Given the description of an element on the screen output the (x, y) to click on. 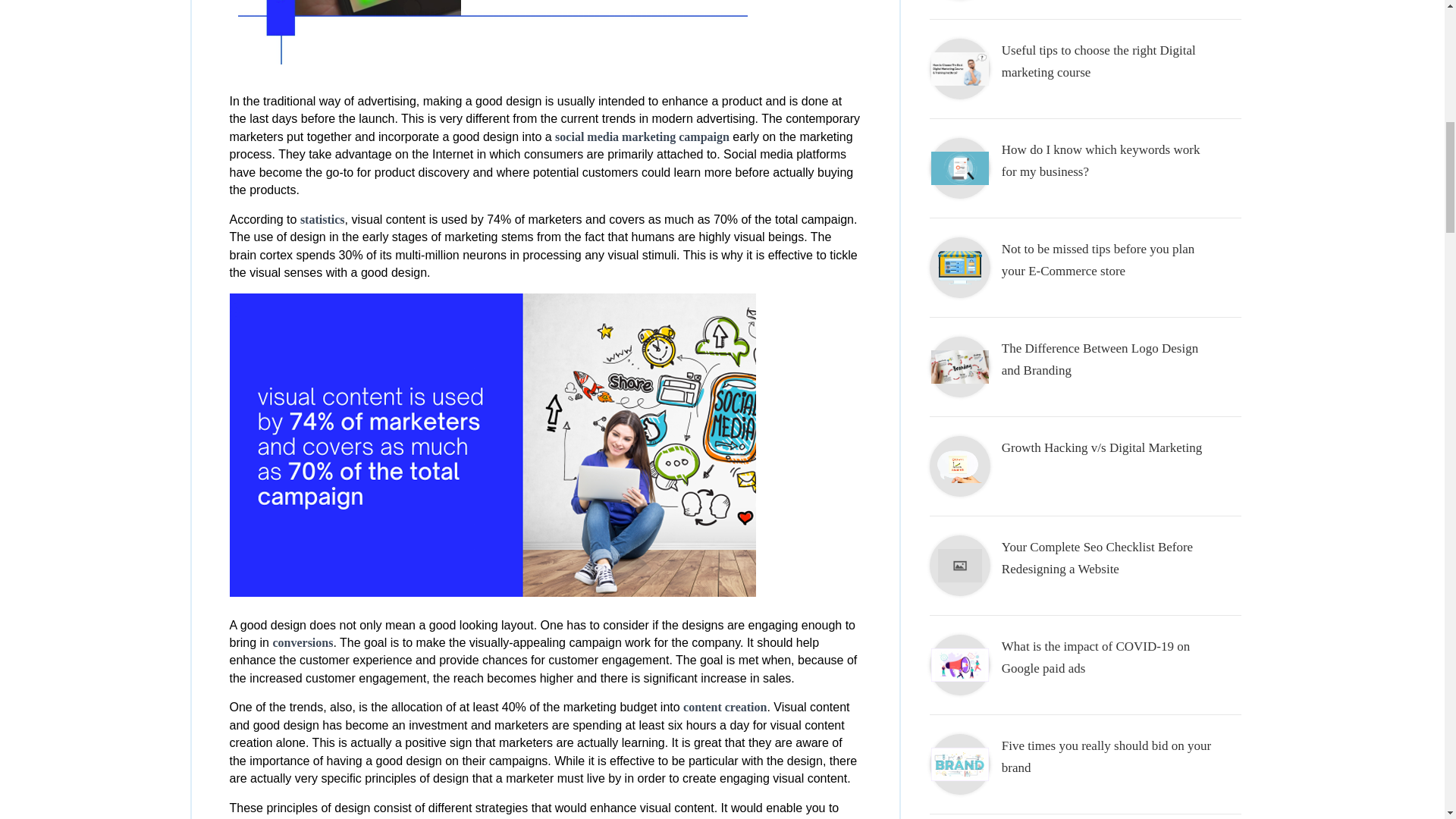
conversions (302, 642)
social media marketing campaign (641, 136)
statistics (322, 219)
